Given the description of an element on the screen output the (x, y) to click on. 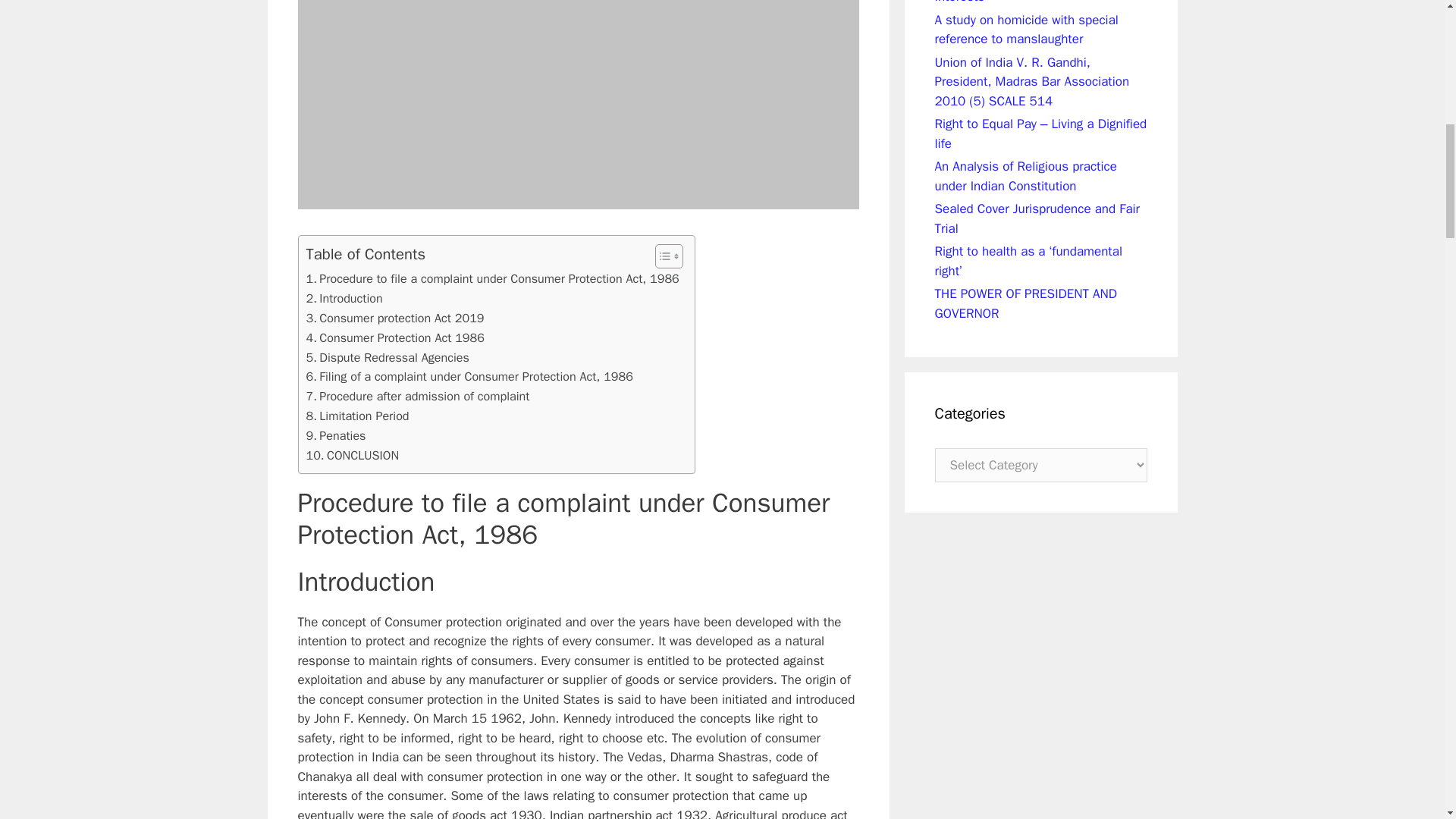
Consumer protection Act 2019 (394, 318)
Consumer Protection Act 1986 (394, 338)
Introduction (343, 298)
Dispute Redressal Agencies (386, 357)
Limitation Period (357, 415)
Introduction  (343, 298)
Consumer protection Act 2019 (394, 318)
Limitation Period (357, 415)
